Given the description of an element on the screen output the (x, y) to click on. 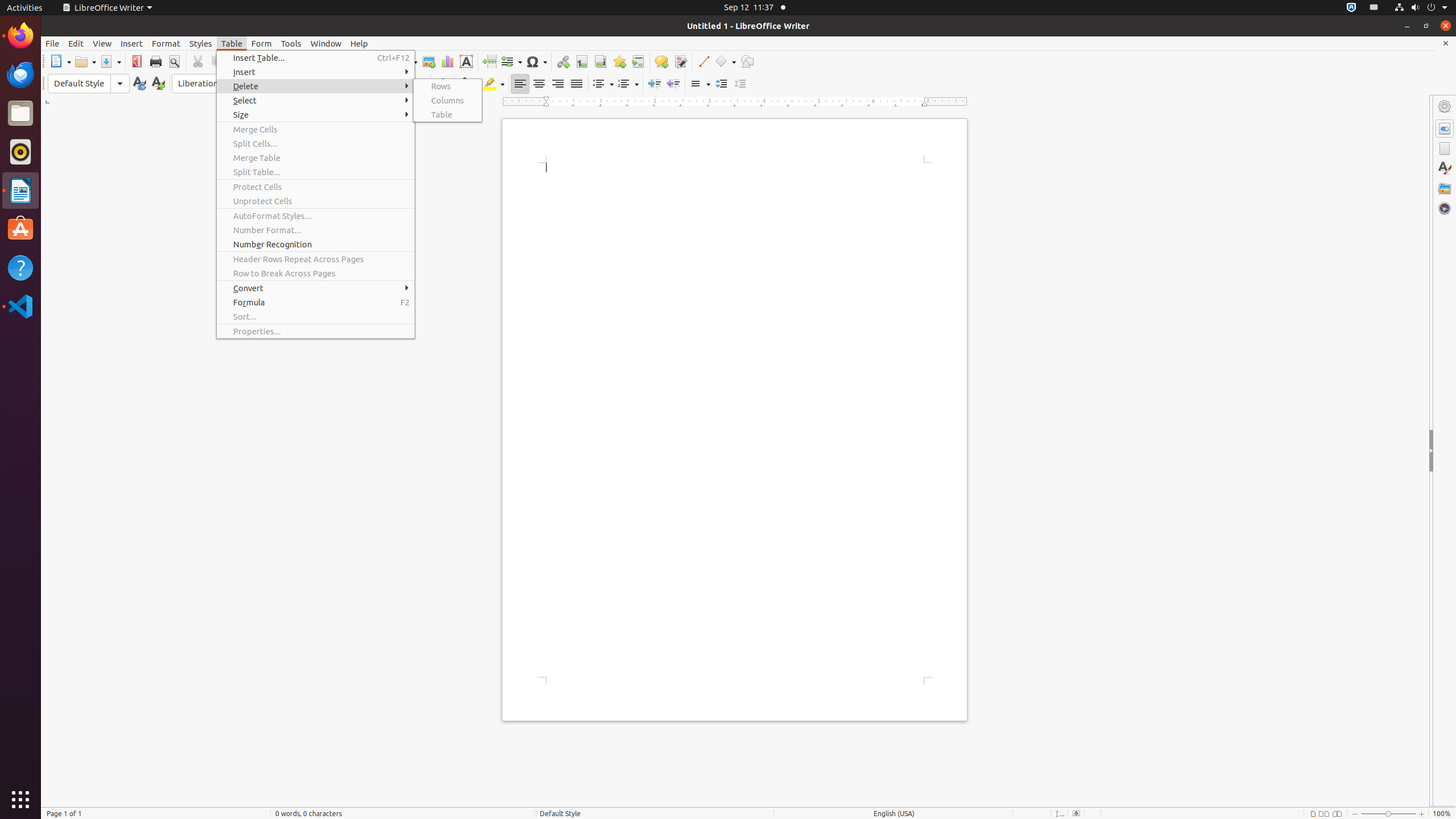
Line Element type: toggle-button (702, 61)
Styles Element type: radio-button (1444, 168)
Bullets Element type: push-button (602, 83)
Cut Element type: push-button (197, 61)
Line Spacing Element type: push-button (699, 83)
